Given the description of an element on the screen output the (x, y) to click on. 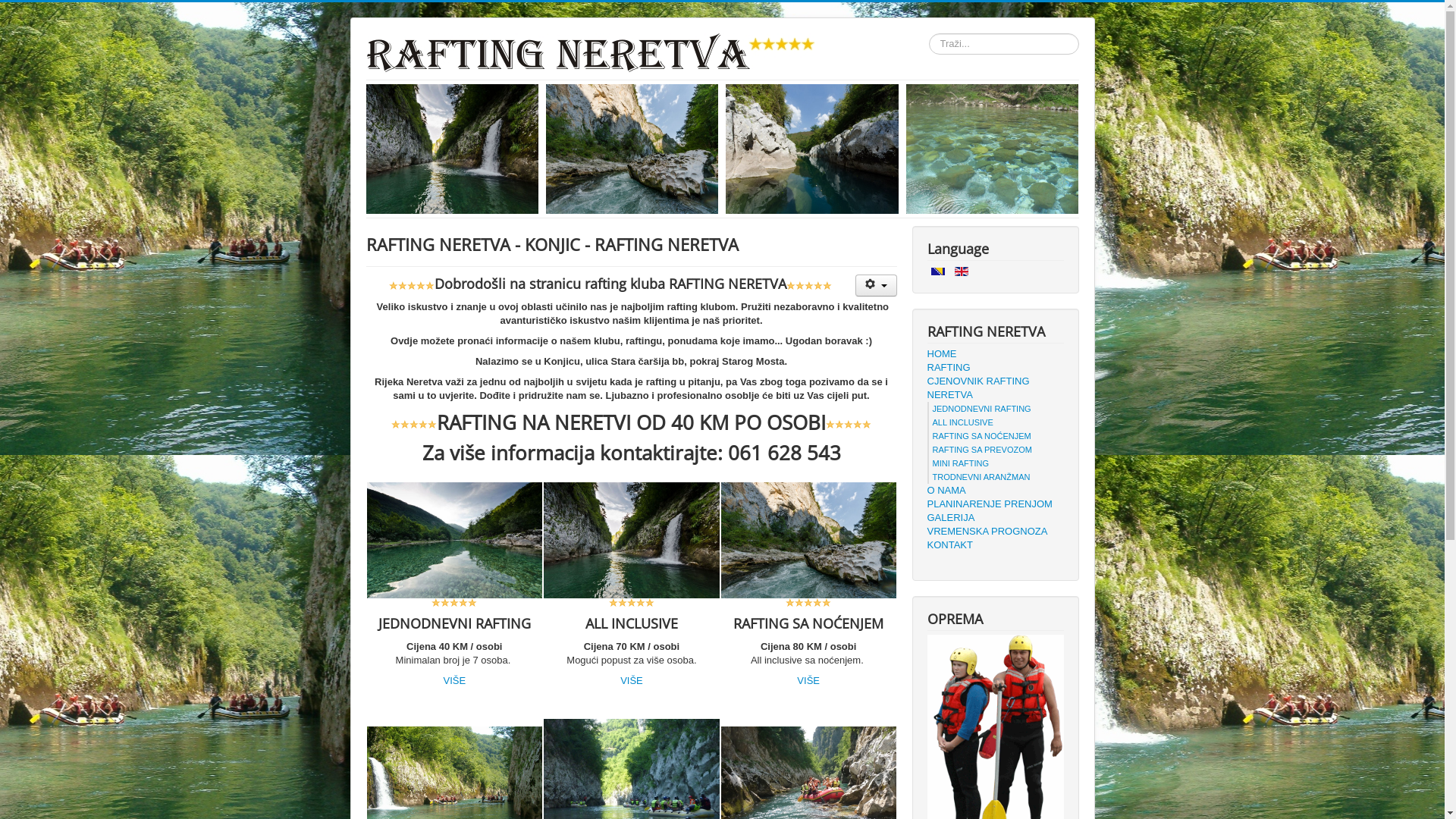
HOME Element type: text (994, 353)
JEDNODNEVNI RAFTING Element type: text (981, 408)
RAFTING Element type: text (994, 367)
Bosnian (BA)  Element type: hover (937, 271)
PLANINARENJE PRENJOM Element type: text (994, 504)
GALERIJA Element type: text (994, 517)
KONTAKT Element type: text (994, 545)
English (UK) Element type: hover (961, 271)
ALL INCLUSIVE Element type: text (962, 421)
VREMENSKA PROGNOZA Element type: text (994, 531)
O NAMA Element type: text (994, 490)
RAFTING SA PREVOZOM Element type: text (982, 449)
CJENOVNIK RAFTING NERETVA Element type: text (994, 387)
MINI RAFTING Element type: text (960, 462)
